Given the description of an element on the screen output the (x, y) to click on. 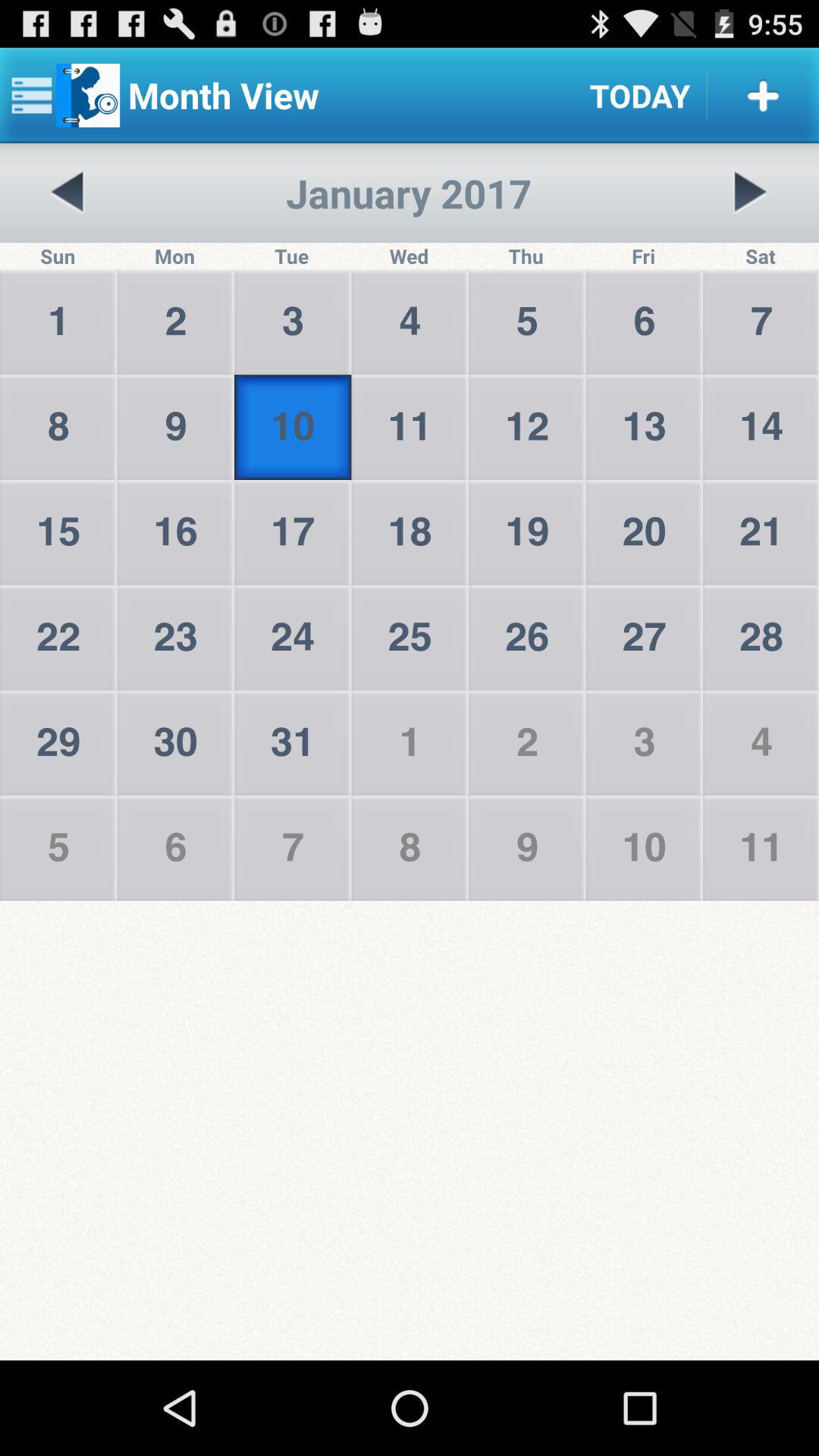
go back to previous page (67, 192)
